Given the description of an element on the screen output the (x, y) to click on. 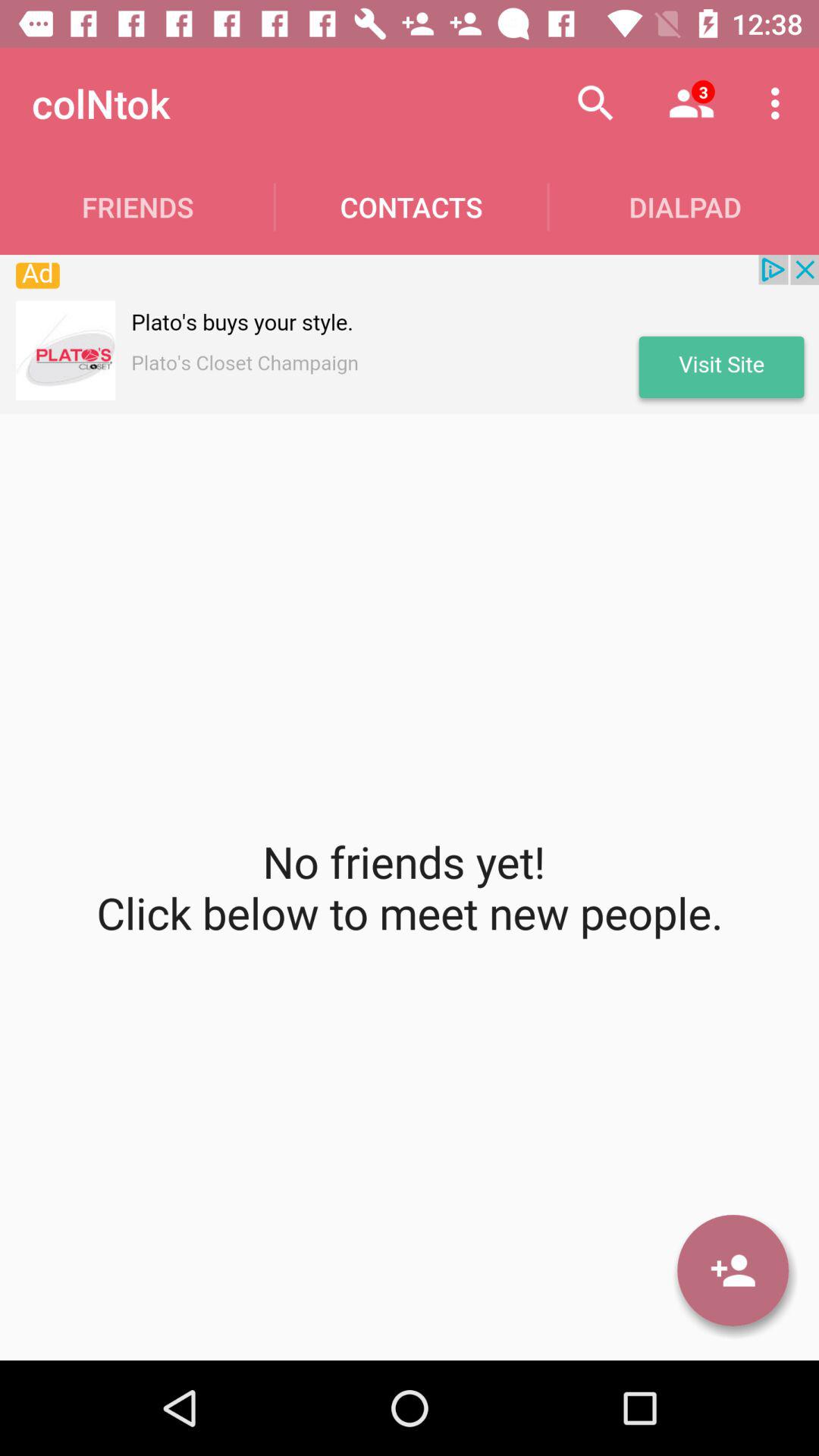
open advertisement (409, 334)
